Given the description of an element on the screen output the (x, y) to click on. 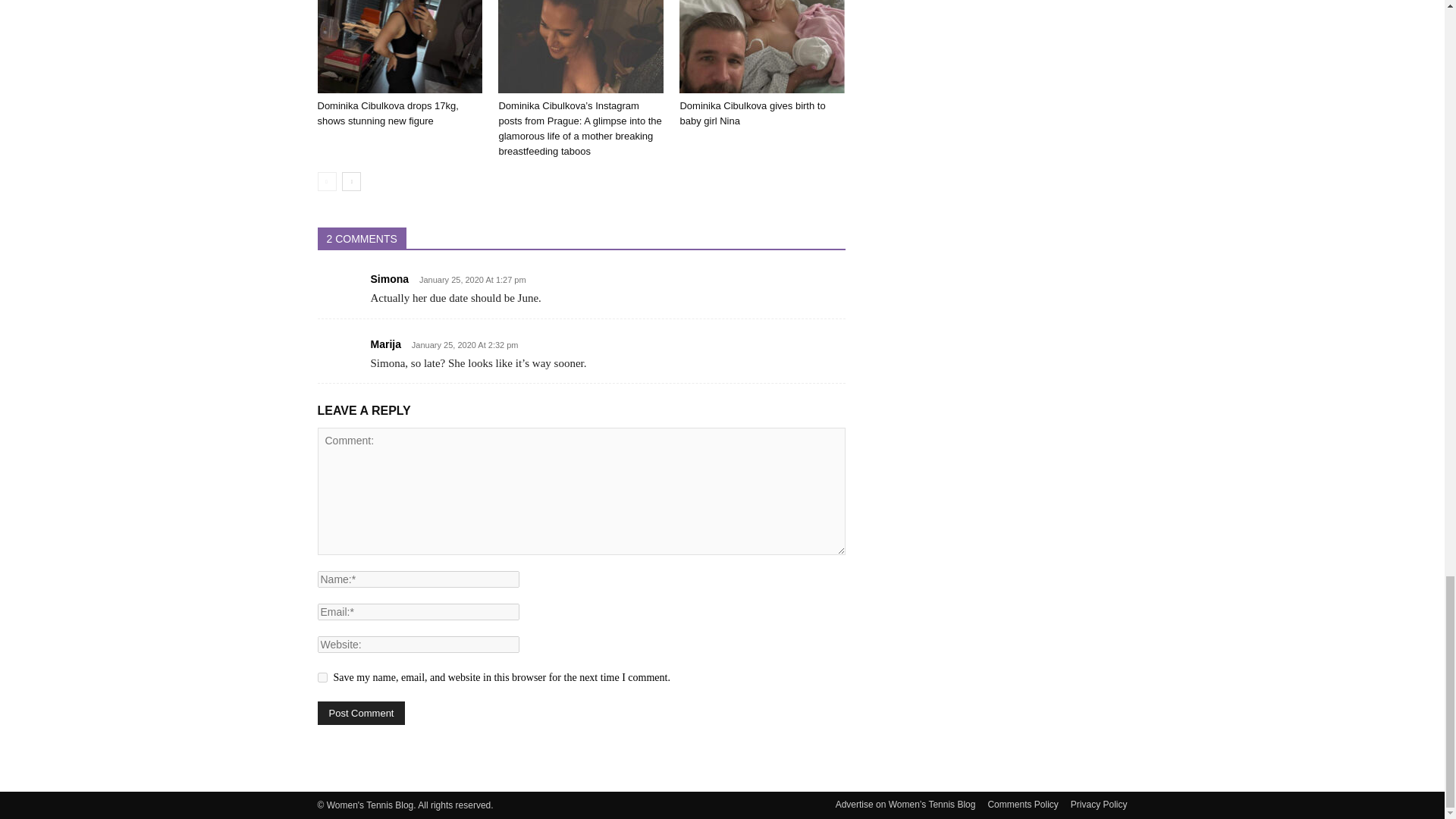
Dominika Cibulkova drops 17kg, shows stunning new figure (399, 46)
yes (321, 677)
Post Comment (360, 712)
Dominika Cibulkova gives birth to baby girl Nina (761, 46)
Dominika Cibulkova drops 17kg, shows stunning new figure (387, 112)
Dominika Cibulkova gives birth to baby girl Nina (752, 112)
